Given the description of an element on the screen output the (x, y) to click on. 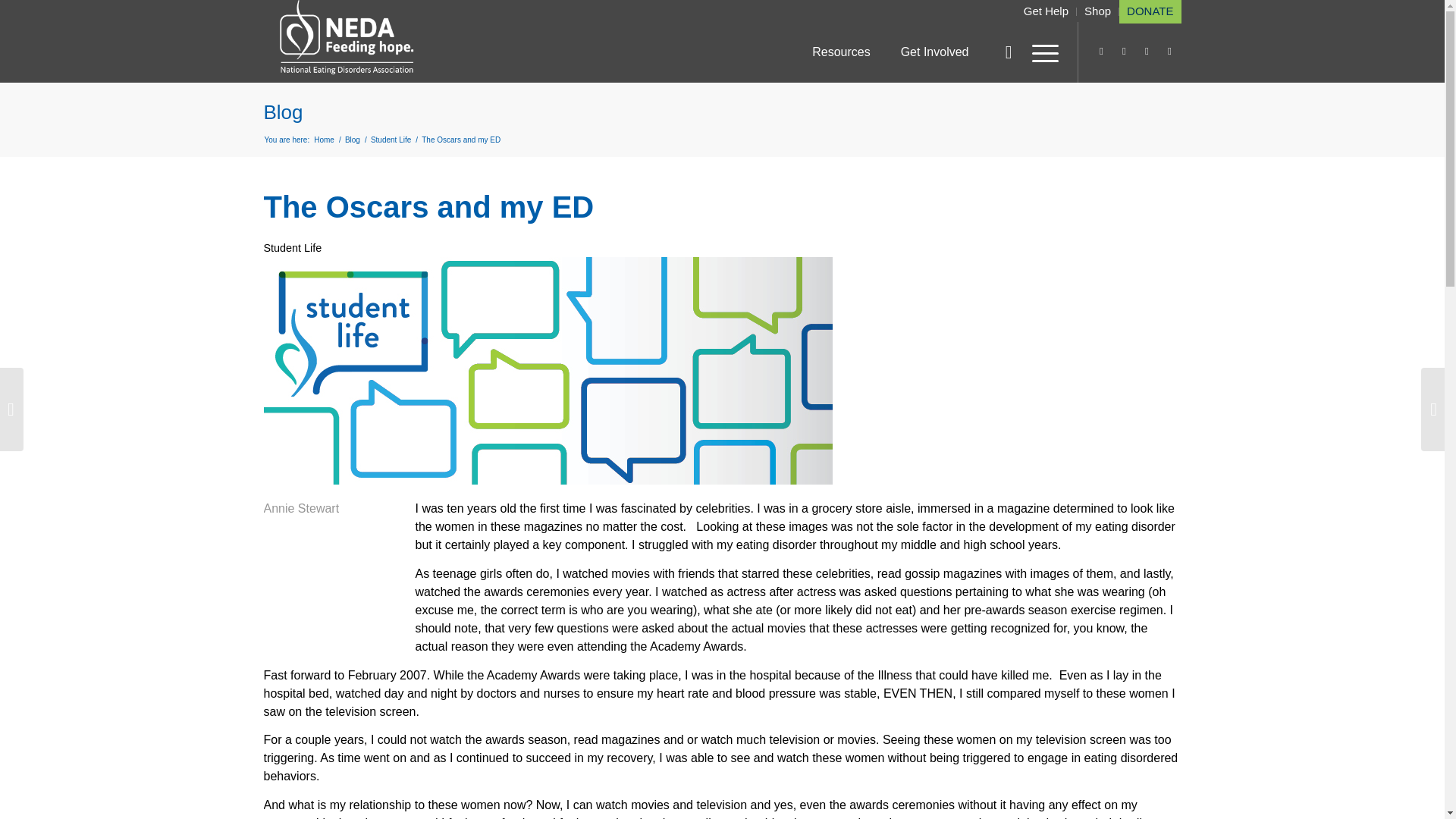
DONATE (1149, 11)
National Eating Disorders Association (323, 139)
Resources (840, 51)
Get Involved (935, 51)
Home (323, 139)
Instagram (1101, 51)
LinkedIn (1124, 51)
Please click for getting help resources (1045, 11)
Get Help (1045, 11)
Facebook (1169, 51)
